Given the description of an element on the screen output the (x, y) to click on. 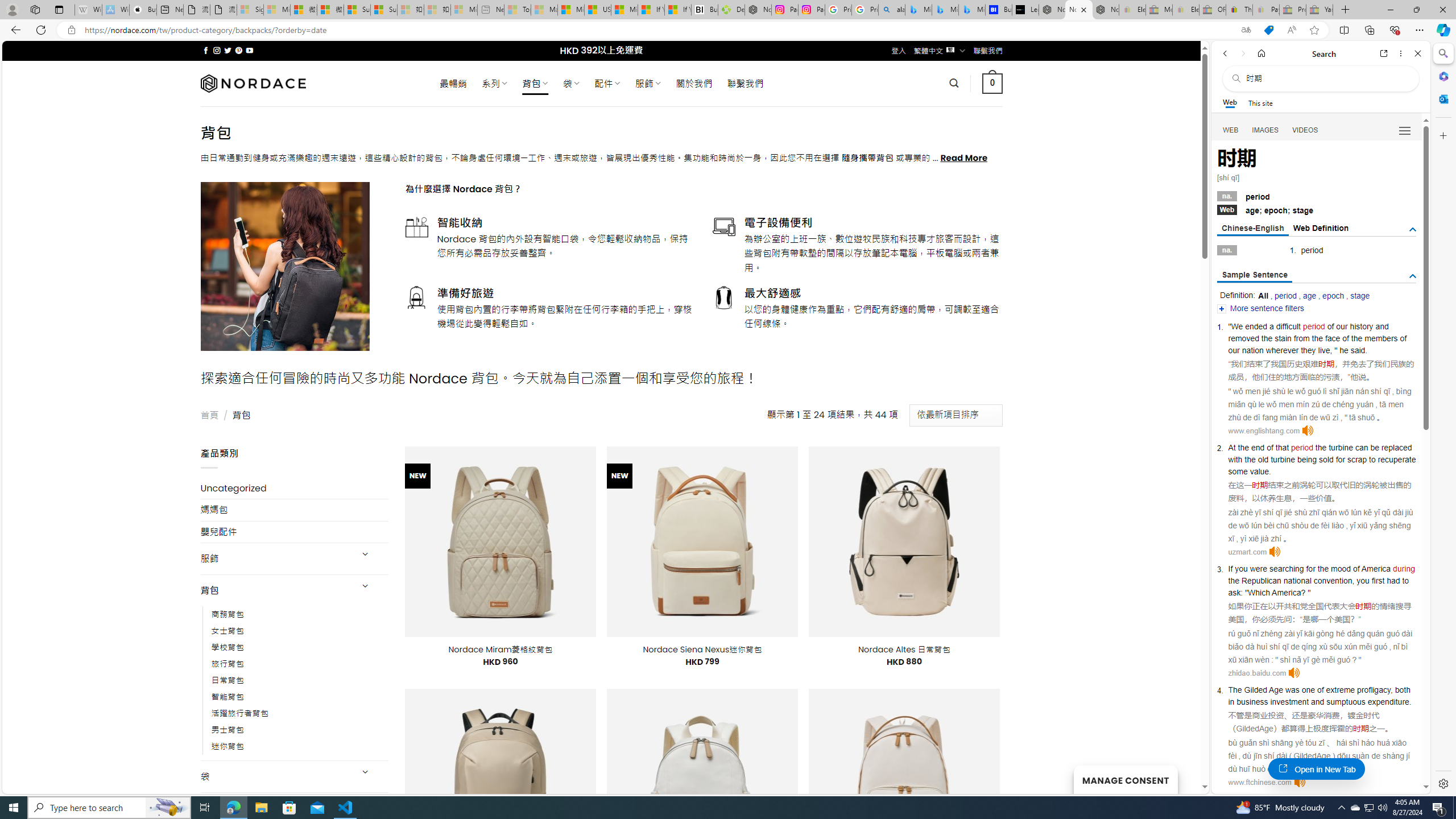
live (1323, 349)
Chinese-English (1252, 228)
Home (1261, 53)
members (1380, 338)
 0  (992, 83)
